Given the description of an element on the screen output the (x, y) to click on. 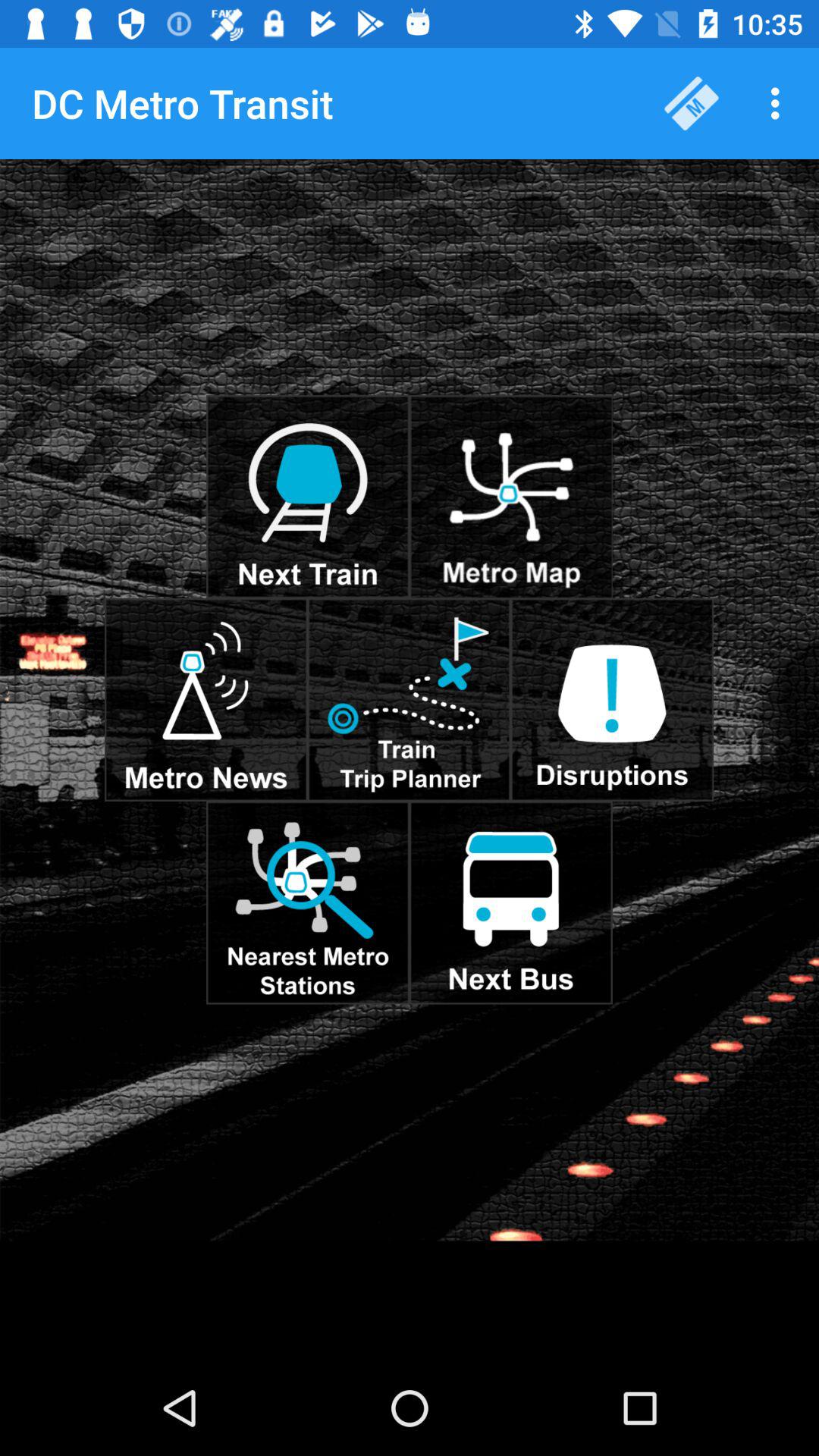
go to news (205, 699)
